Given the description of an element on the screen output the (x, y) to click on. 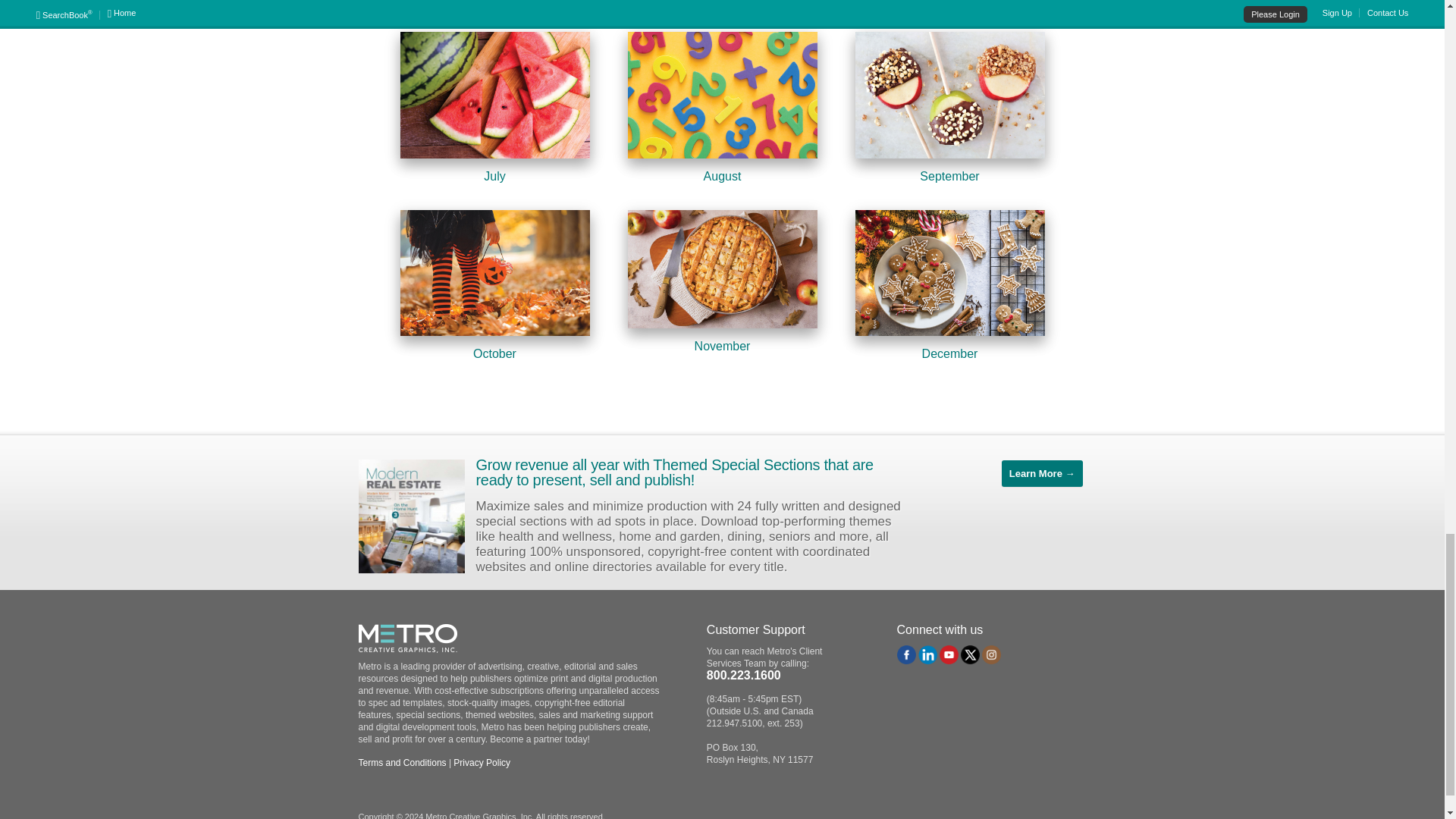
X (969, 654)
Instagram (991, 654)
YouTube (948, 654)
Facebook (905, 654)
LinkedIn (927, 654)
